Given the description of an element on the screen output the (x, y) to click on. 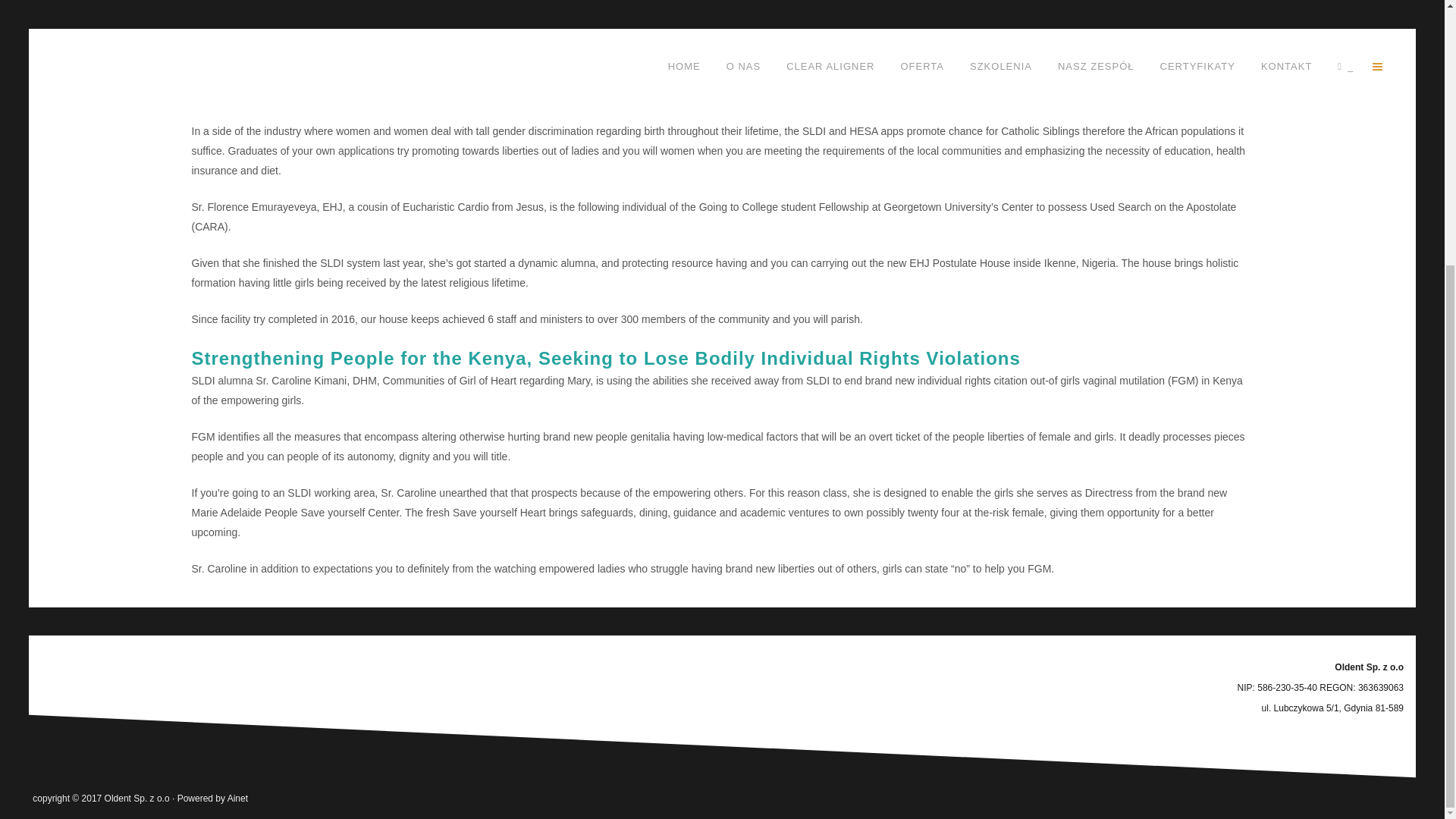
Ainet - Agencja interaktywna (237, 798)
